Given the description of an element on the screen output the (x, y) to click on. 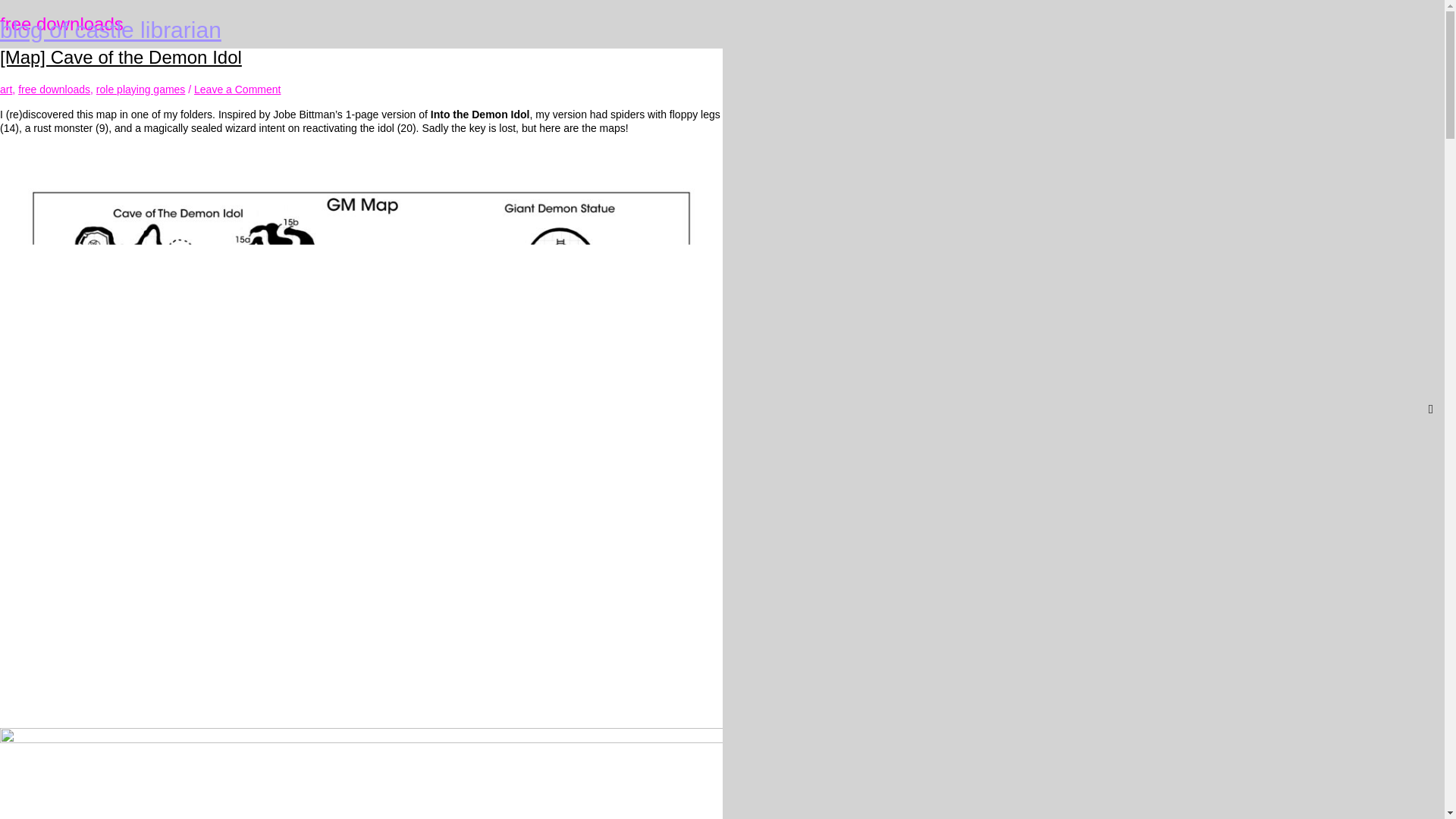
free downloads (53, 89)
Leave a Comment (237, 89)
role playing games (141, 89)
blog of castle librarian (110, 29)
art (5, 89)
